Given the description of an element on the screen output the (x, y) to click on. 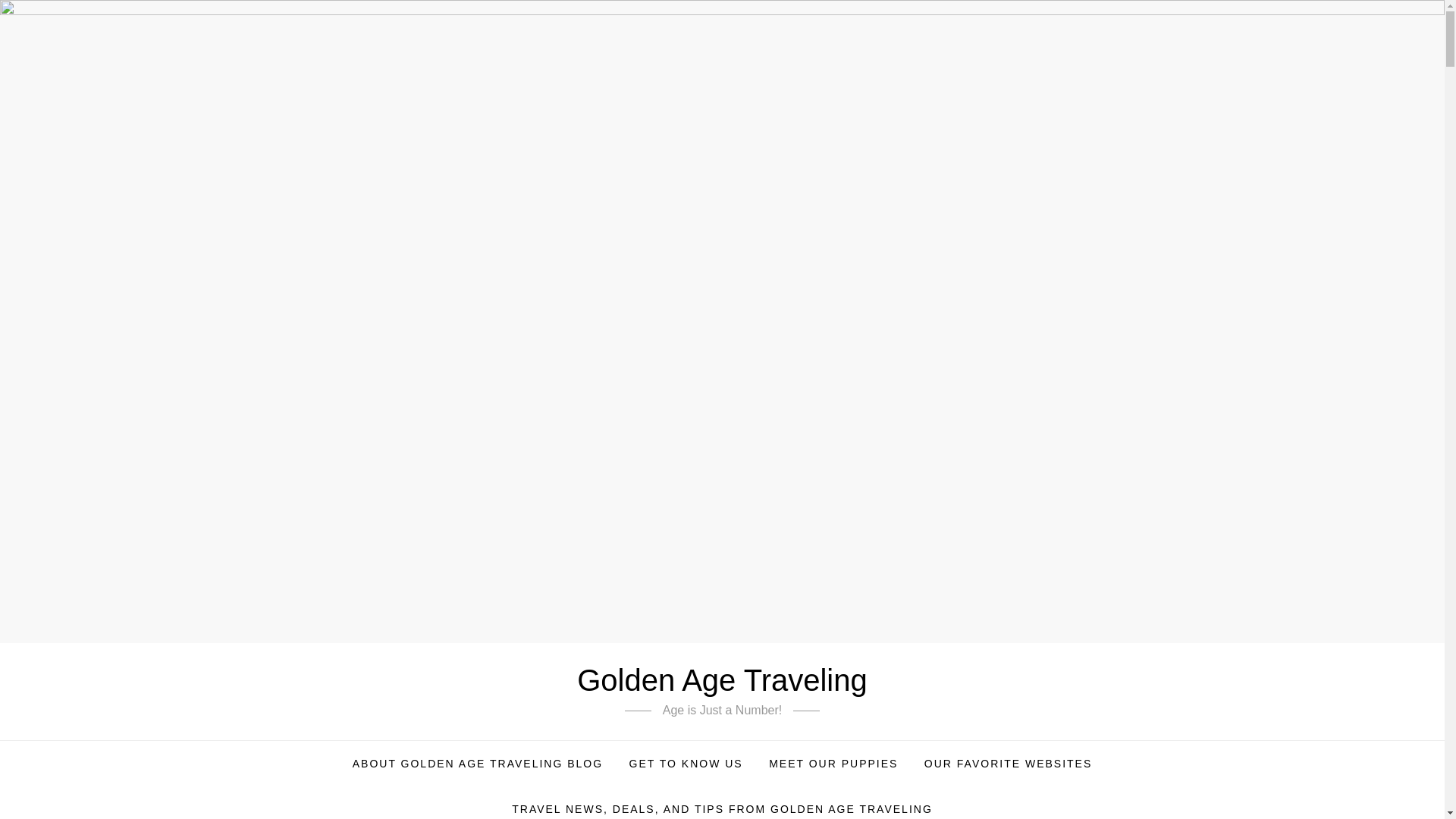
MEET OUR PUPPIES (832, 763)
ABOUT GOLDEN AGE TRAVELING BLOG (477, 763)
GET TO KNOW US (685, 763)
TRAVEL NEWS, DEALS, AND TIPS FROM GOLDEN AGE TRAVELING (721, 802)
Golden Age Traveling (721, 679)
OUR FAVORITE WEBSITES (1007, 763)
